Given the description of an element on the screen output the (x, y) to click on. 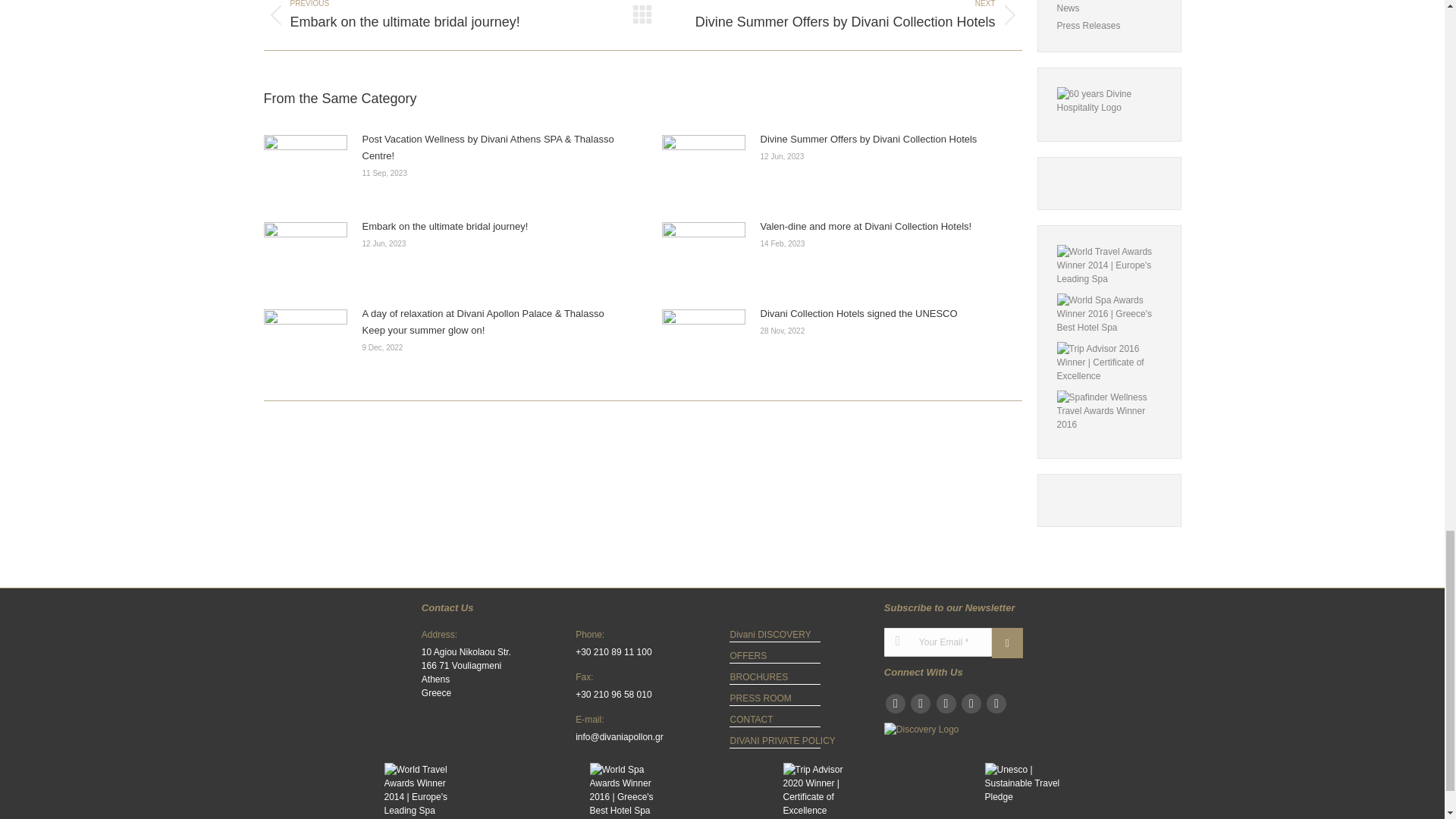
60 Years Anniversary Divanis (1109, 100)
Please type your email (937, 646)
Spafinder Wellness Travel Awards Winner 2016 (1109, 410)
